Given the description of an element on the screen output the (x, y) to click on. 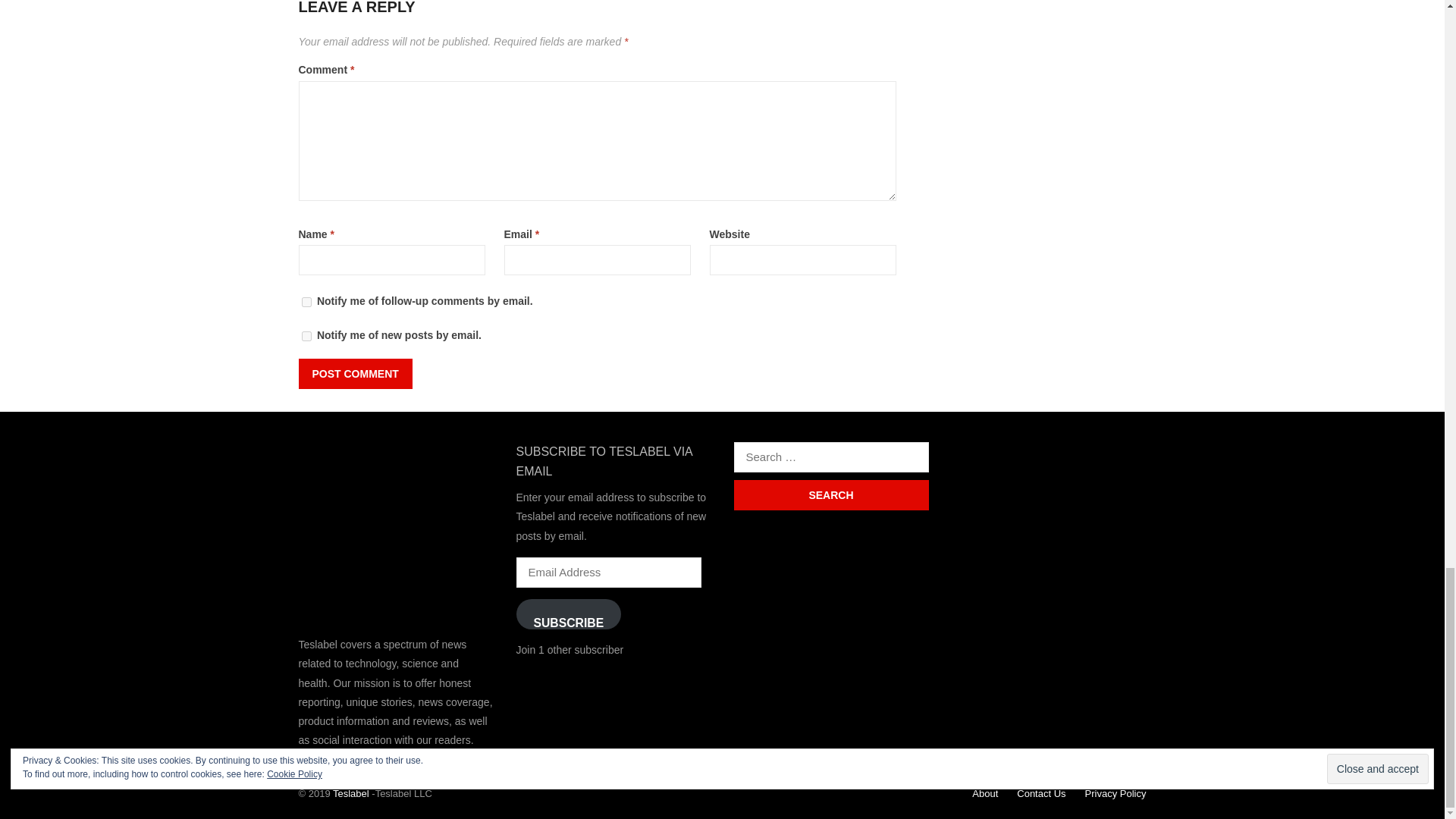
Post Comment (355, 373)
Search (830, 494)
Post Comment (355, 373)
Search (830, 494)
subscribe (306, 336)
subscribe (306, 302)
